Given the description of an element on the screen output the (x, y) to click on. 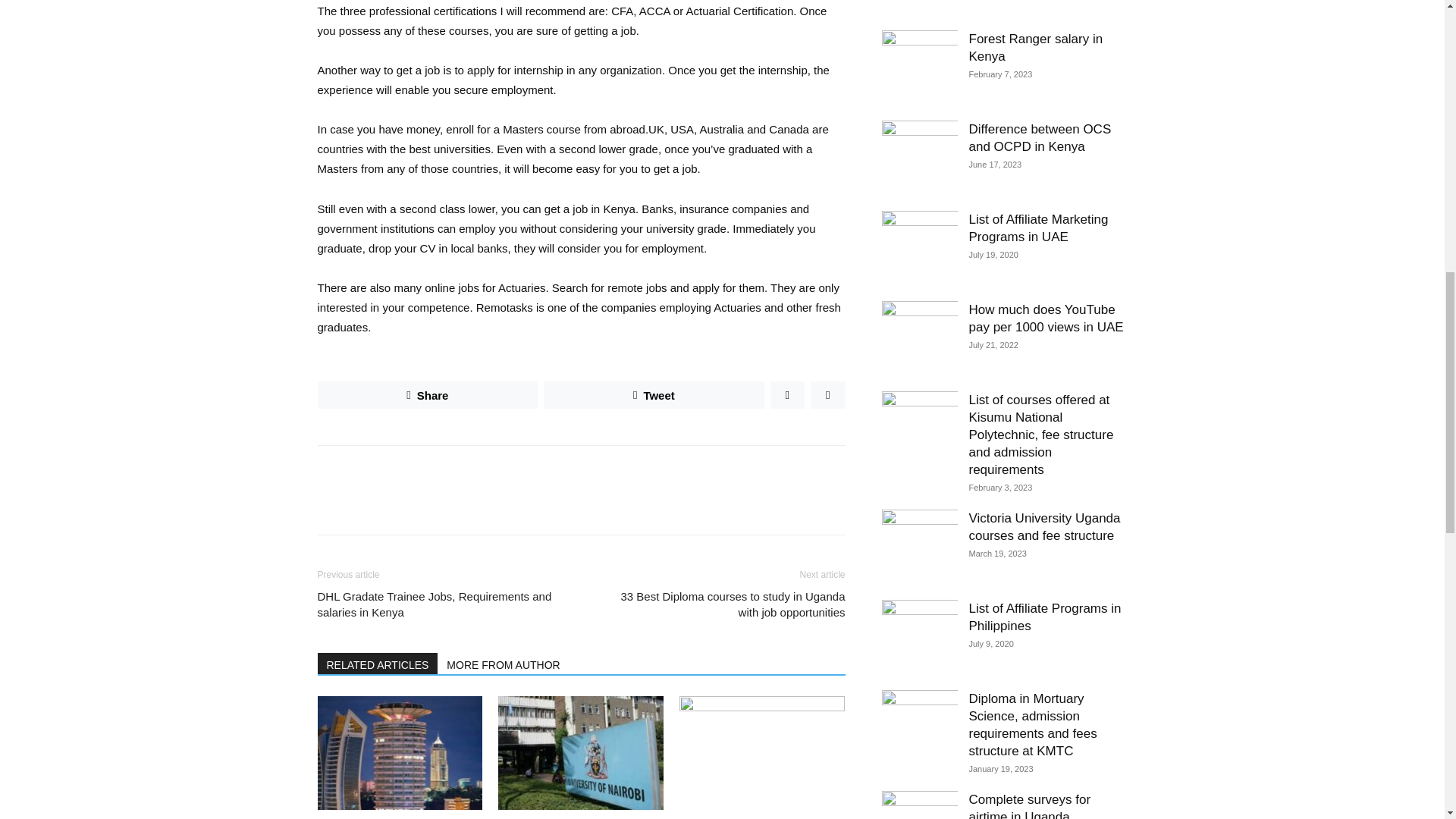
Share (427, 394)
bottomFacebookLike (430, 469)
Tweet (652, 394)
